Given the description of an element on the screen output the (x, y) to click on. 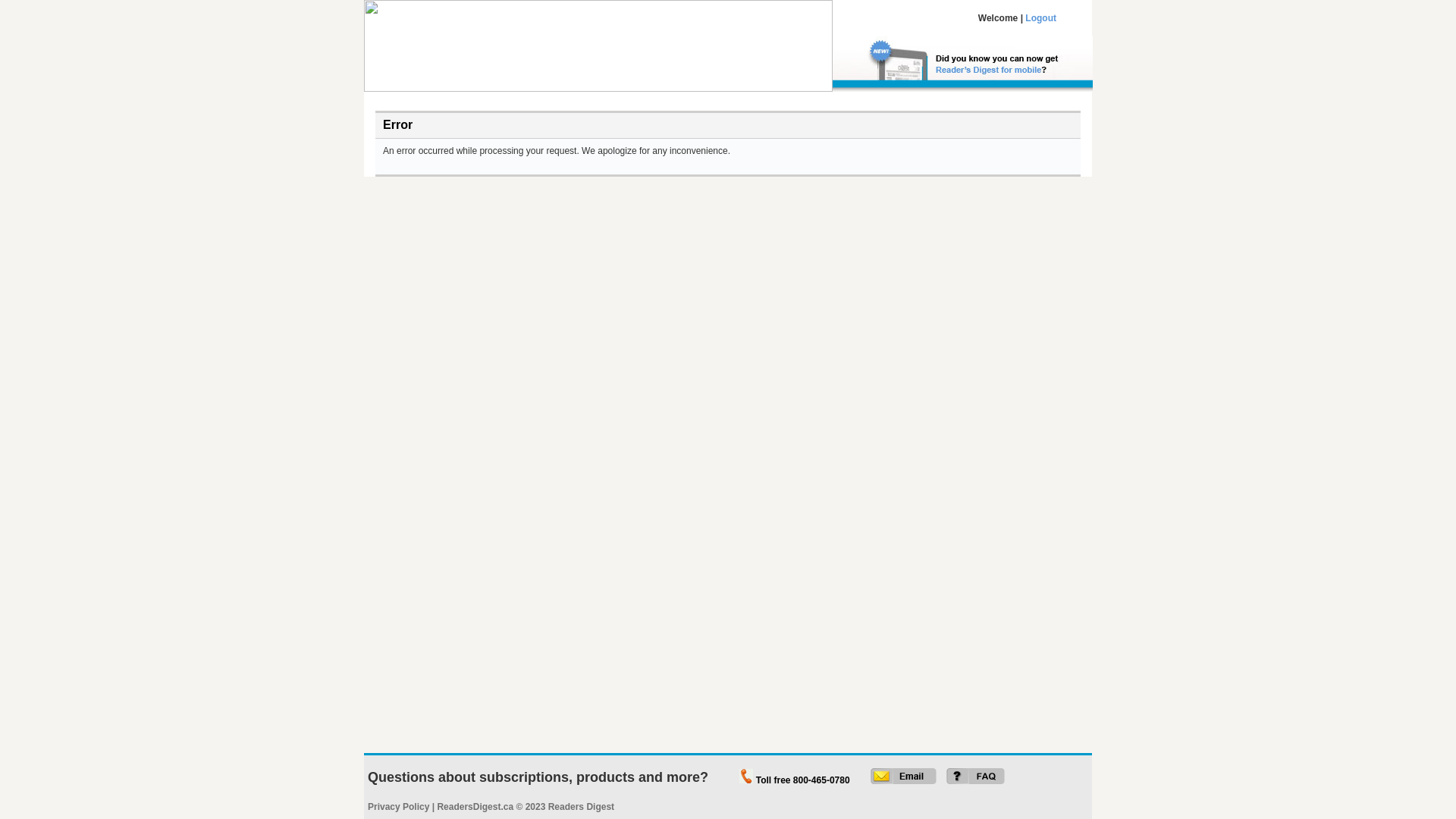
Privacy Policy Element type: text (398, 806)
Logout Element type: text (1040, 17)
ReadersDigest.ca Element type: text (474, 806)
